Given the description of an element on the screen output the (x, y) to click on. 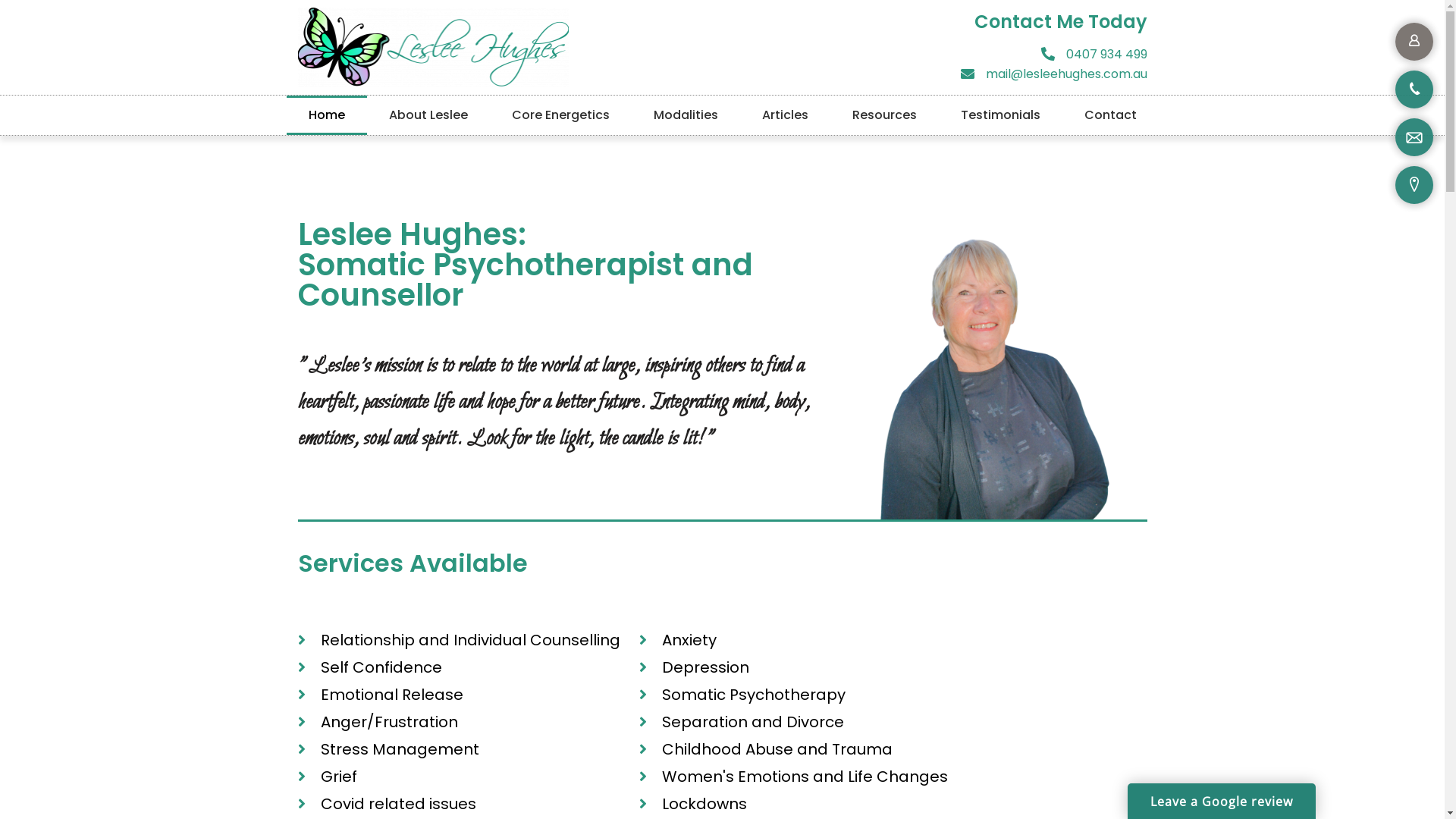
About Leslee Element type: text (428, 114)
Testimonials Element type: text (1000, 114)
Core Energetics Element type: text (560, 114)
0407 934 499 Element type: text (937, 54)
Modalities Element type: text (684, 114)
Resources Element type: text (883, 114)
Home Element type: text (326, 114)
mail@lesleehughes.com.au Element type: text (937, 73)
Articles Element type: text (785, 114)
Home - Somatic Psychotherapist Element type: hover (987, 369)
Contact Element type: text (1109, 114)
cropped-LH-Logo.png Element type: hover (432, 47)
